Given the description of an element on the screen output the (x, y) to click on. 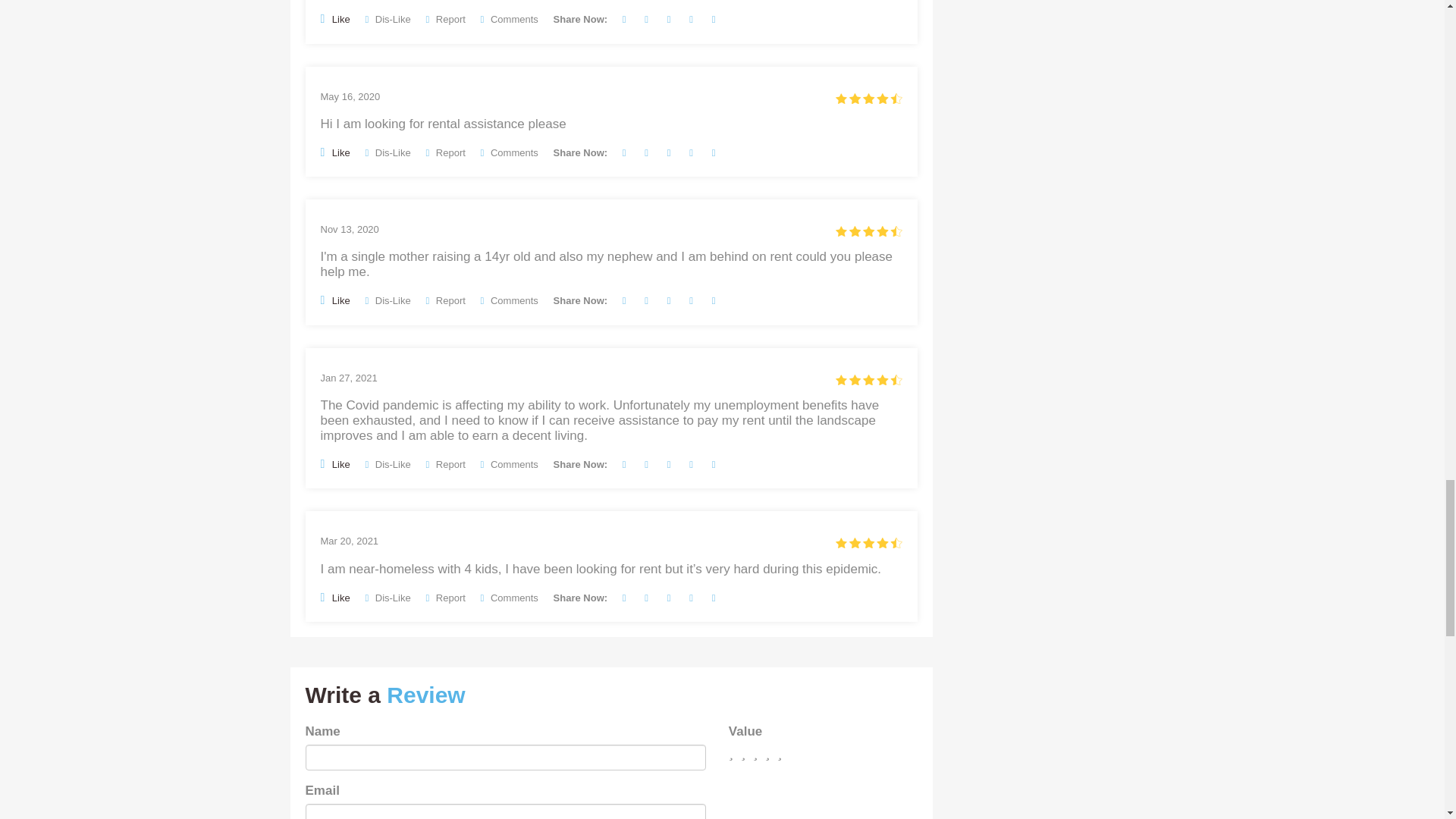
Like (334, 18)
Like (334, 151)
Report (444, 19)
Share Now: (580, 19)
Comments (509, 19)
Dis-Like (387, 19)
